Given the description of an element on the screen output the (x, y) to click on. 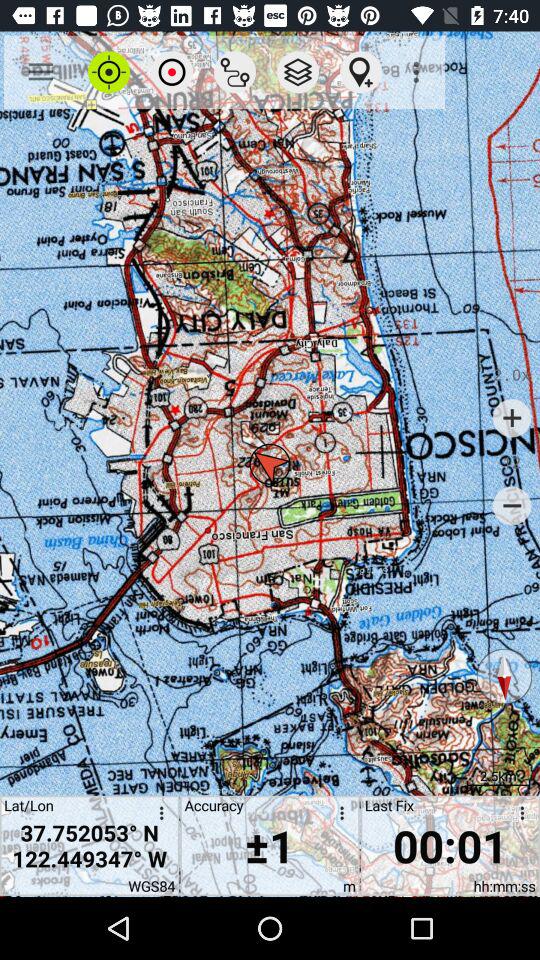
click icon above the 37 752053 n (171, 71)
